Given the description of an element on the screen output the (x, y) to click on. 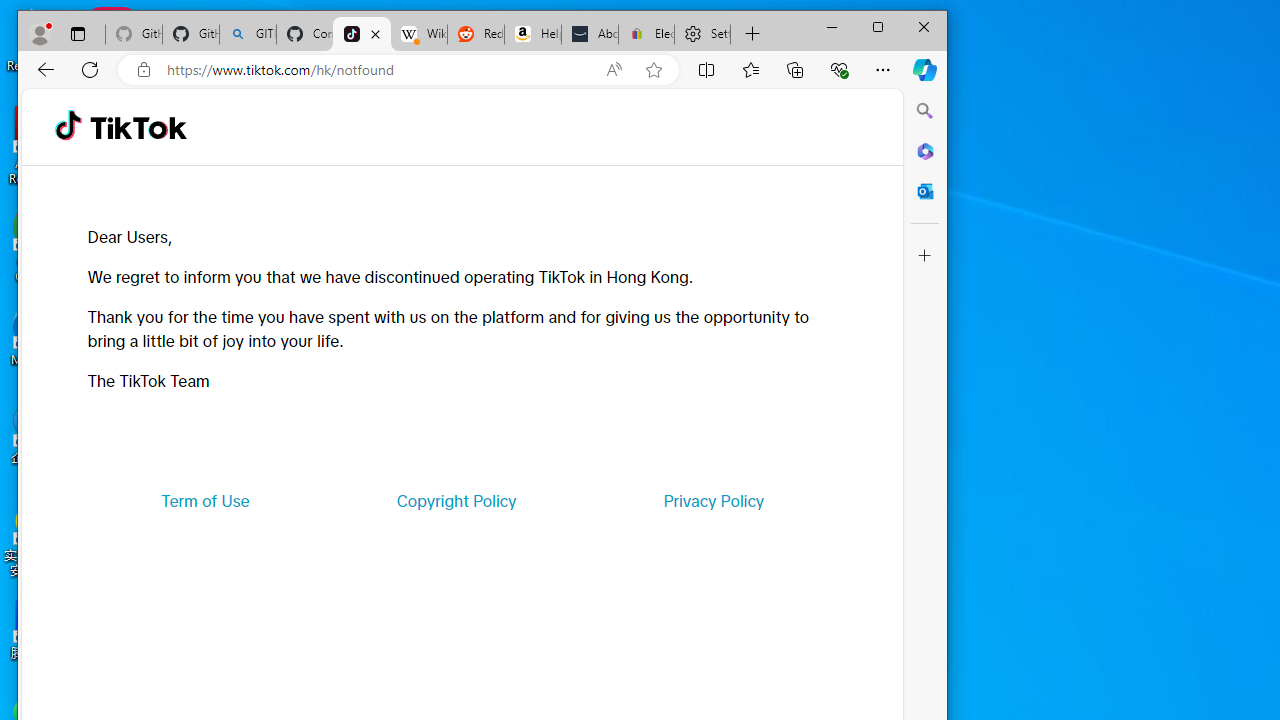
Privacy Policy (713, 500)
Copyright Policy (456, 500)
Maximize (878, 26)
TikTok (362, 34)
